Given the description of an element on the screen output the (x, y) to click on. 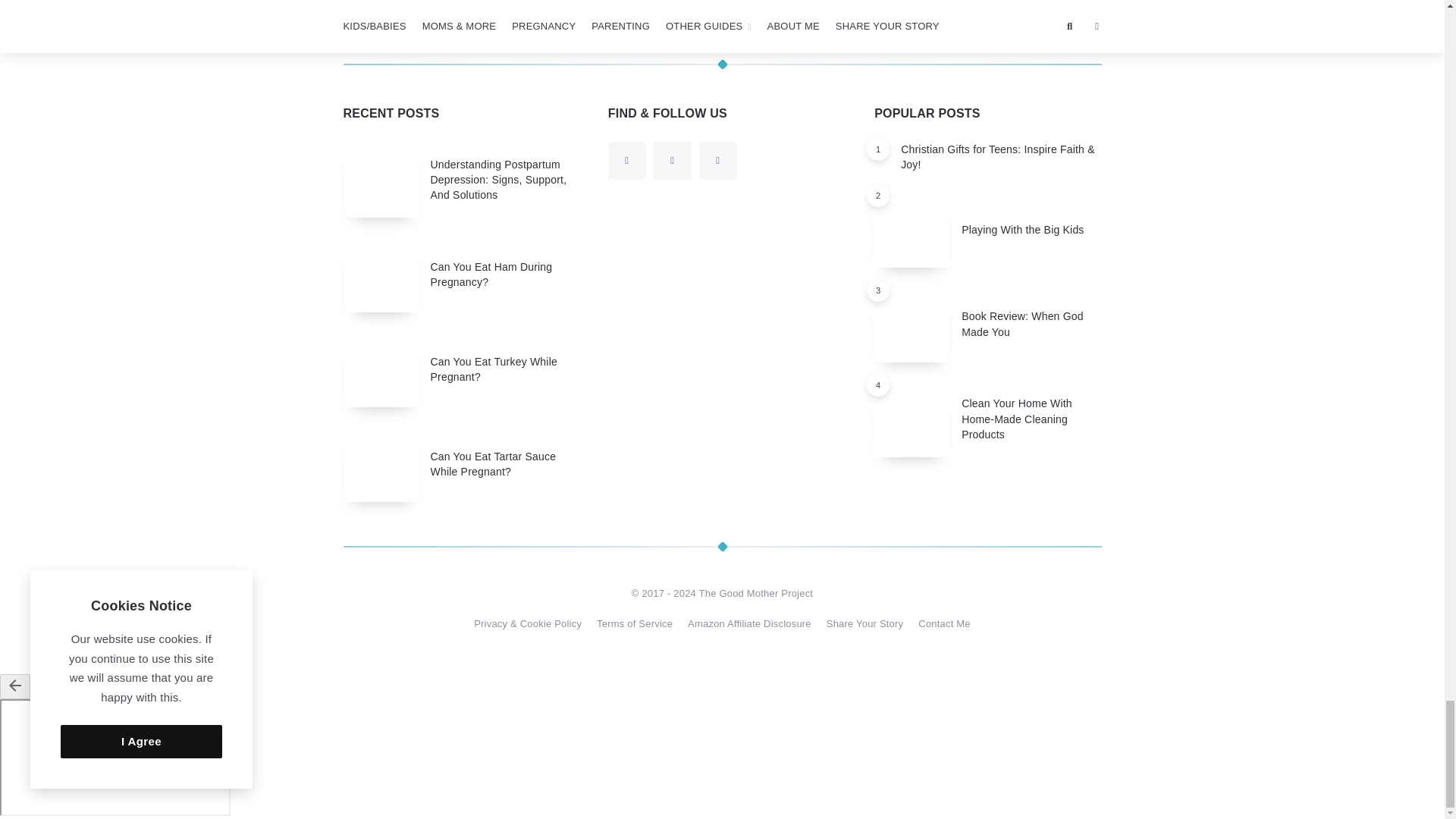
Can You Eat Turkey While Pregnant? (493, 369)
Can You Eat Ham During Pregnancy? (564, 12)
